Given the description of an element on the screen output the (x, y) to click on. 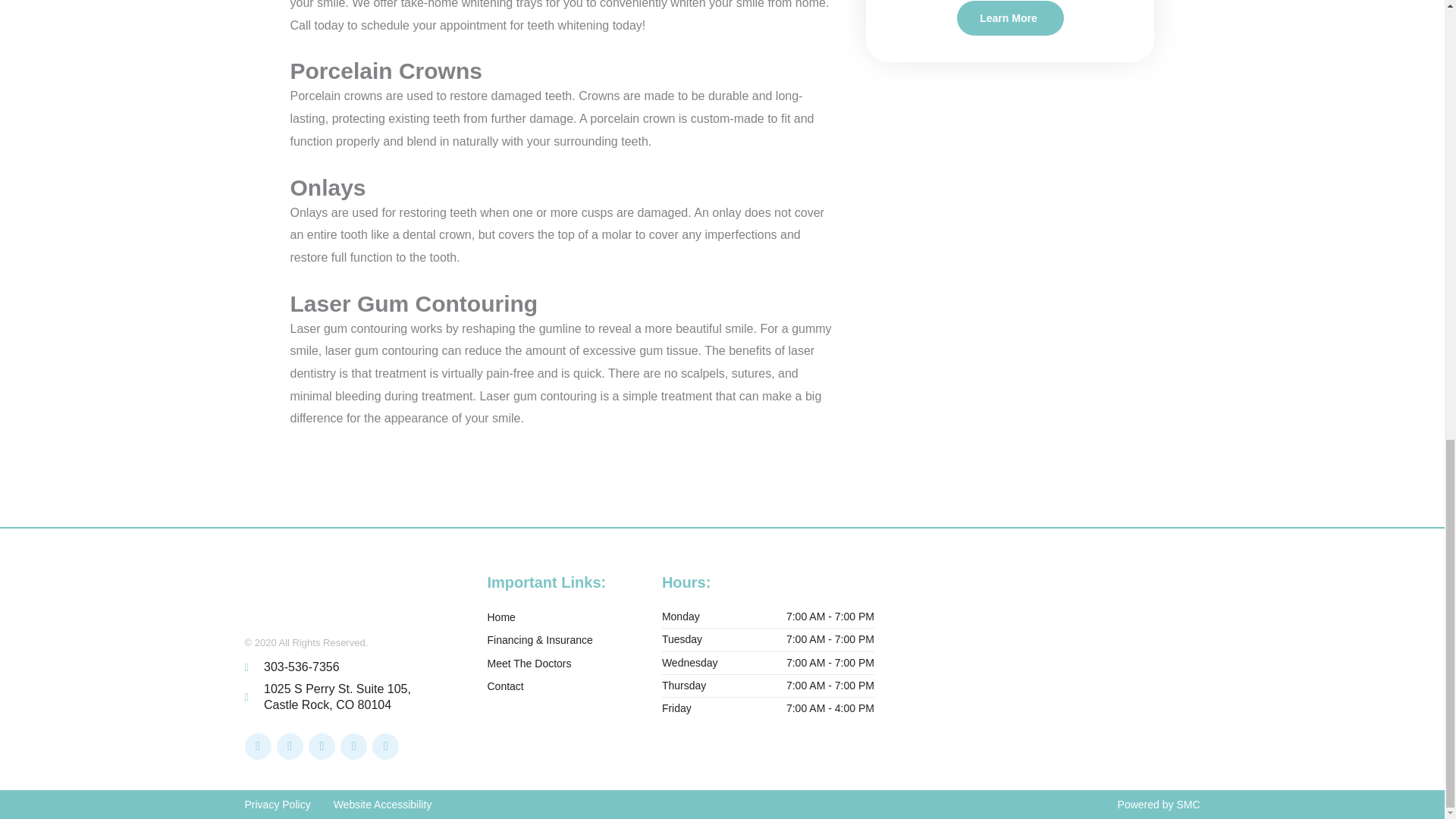
Instagram (289, 746)
Youtube (321, 746)
Facebook-f (257, 746)
Learn More (1009, 18)
303-536-7356 (350, 667)
